Given the description of an element on the screen output the (x, y) to click on. 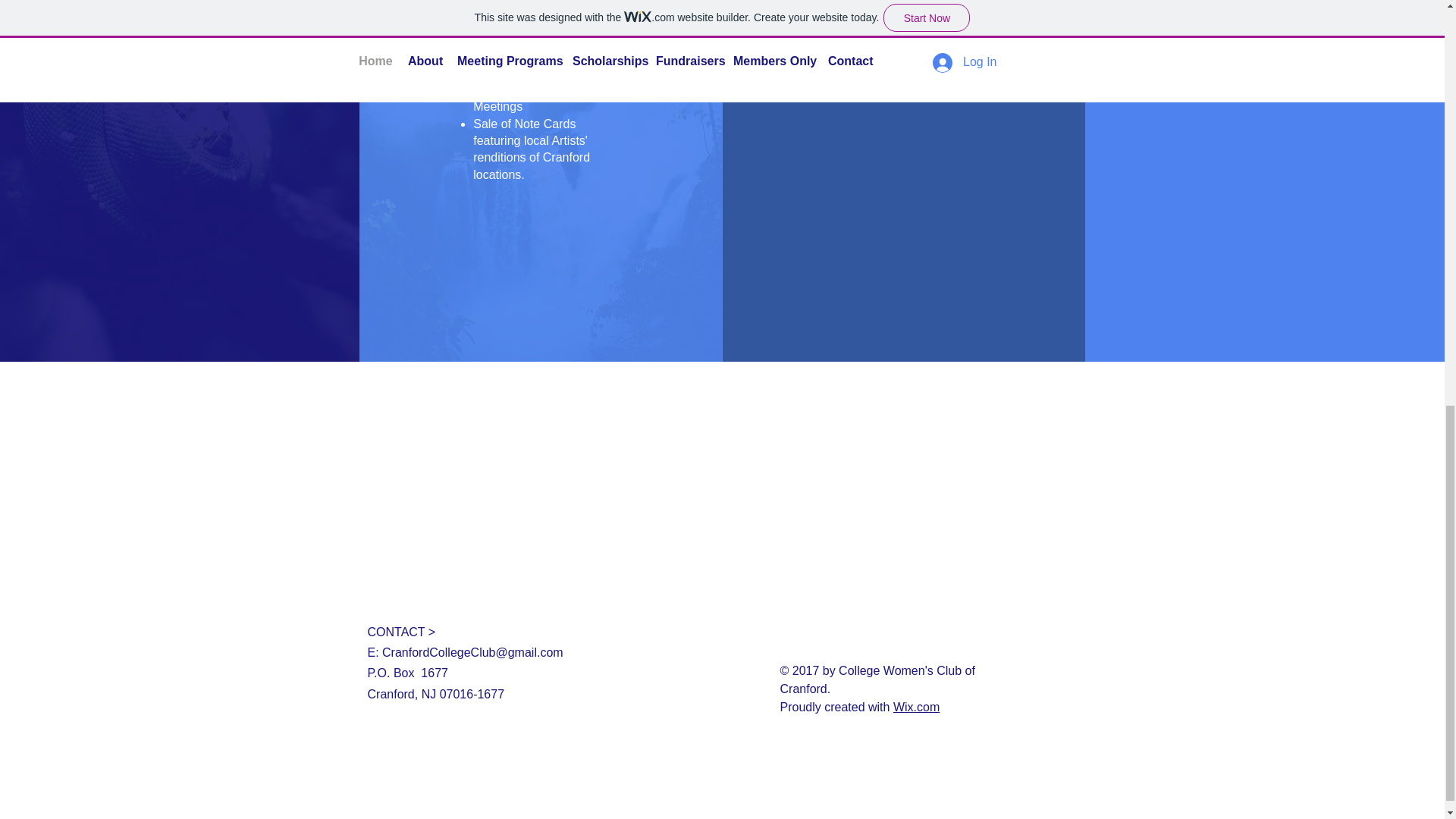
Scholar Tea (505, 21)
Wix.com (916, 707)
Donations for Tribute Award  (889, 3)
